Given the description of an element on the screen output the (x, y) to click on. 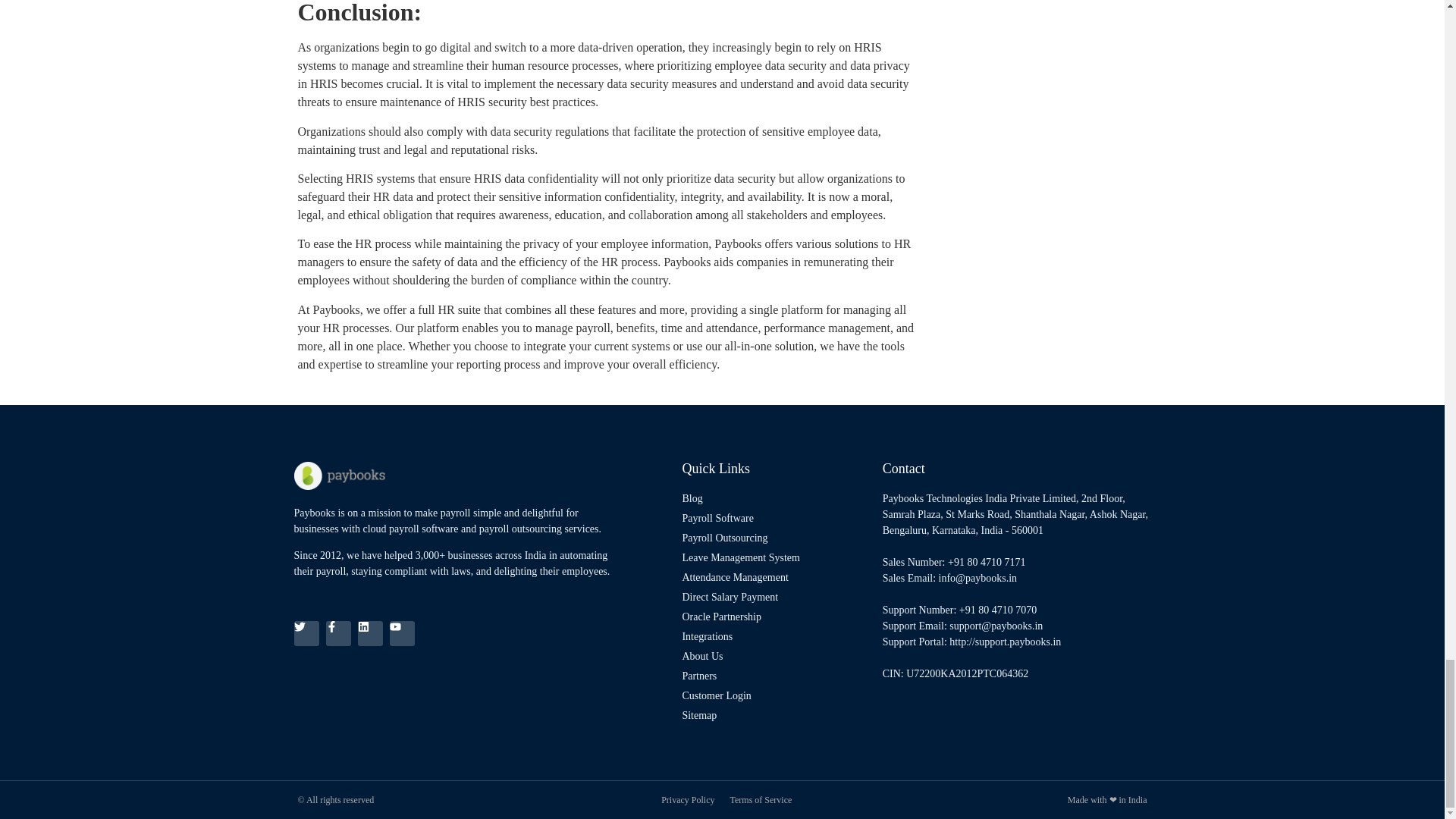
Partners (778, 675)
Terms of Service (760, 799)
Privacy Policy (687, 799)
Leave Management System (778, 557)
Oracle Partnership (778, 616)
Integrations (778, 636)
Sitemap (778, 715)
Payroll Software (778, 518)
Blog (778, 498)
Attendance Management (778, 577)
